Given the description of an element on the screen output the (x, y) to click on. 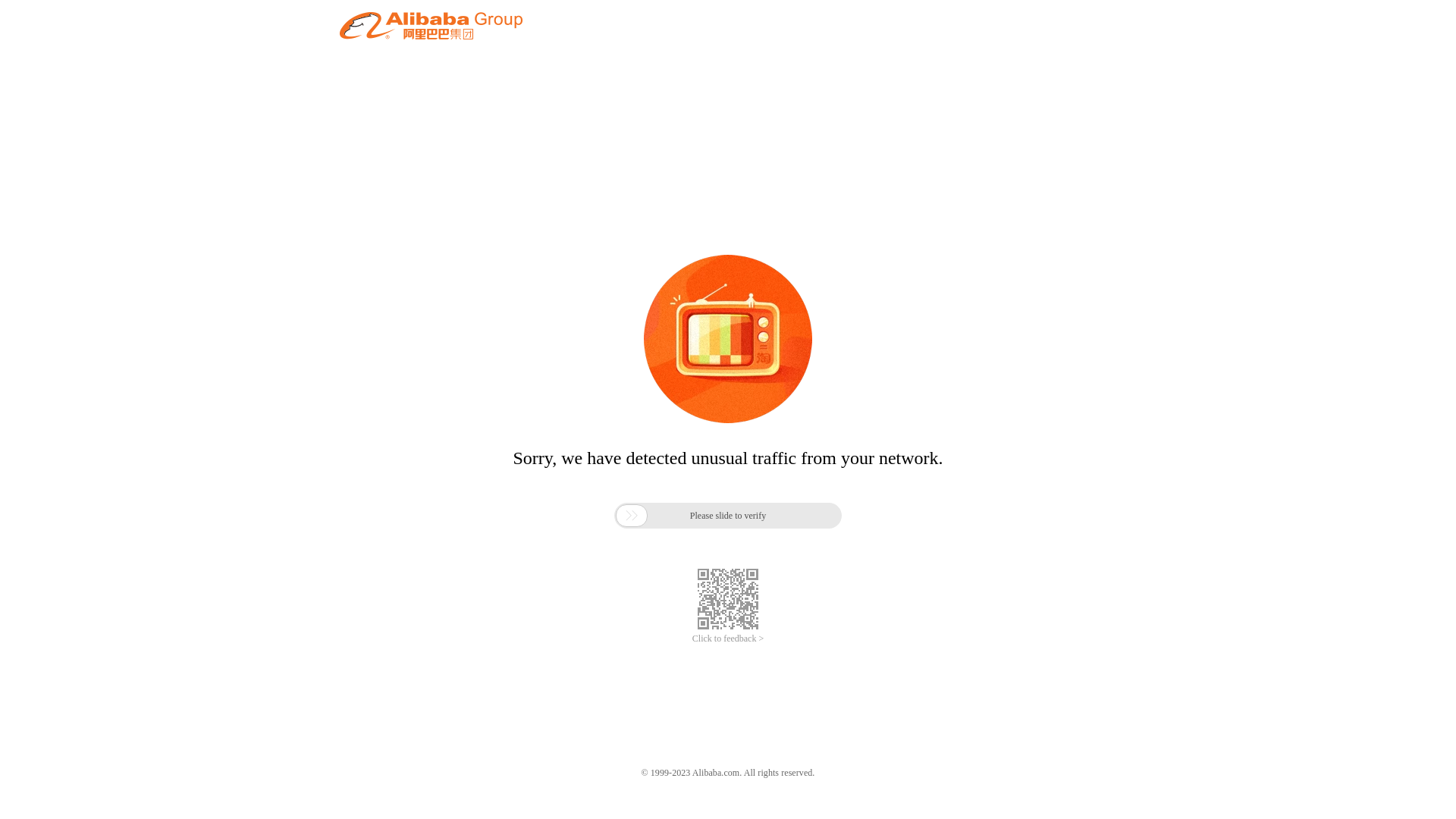
Click to feedback > Element type: text (727, 638)
